Given the description of an element on the screen output the (x, y) to click on. 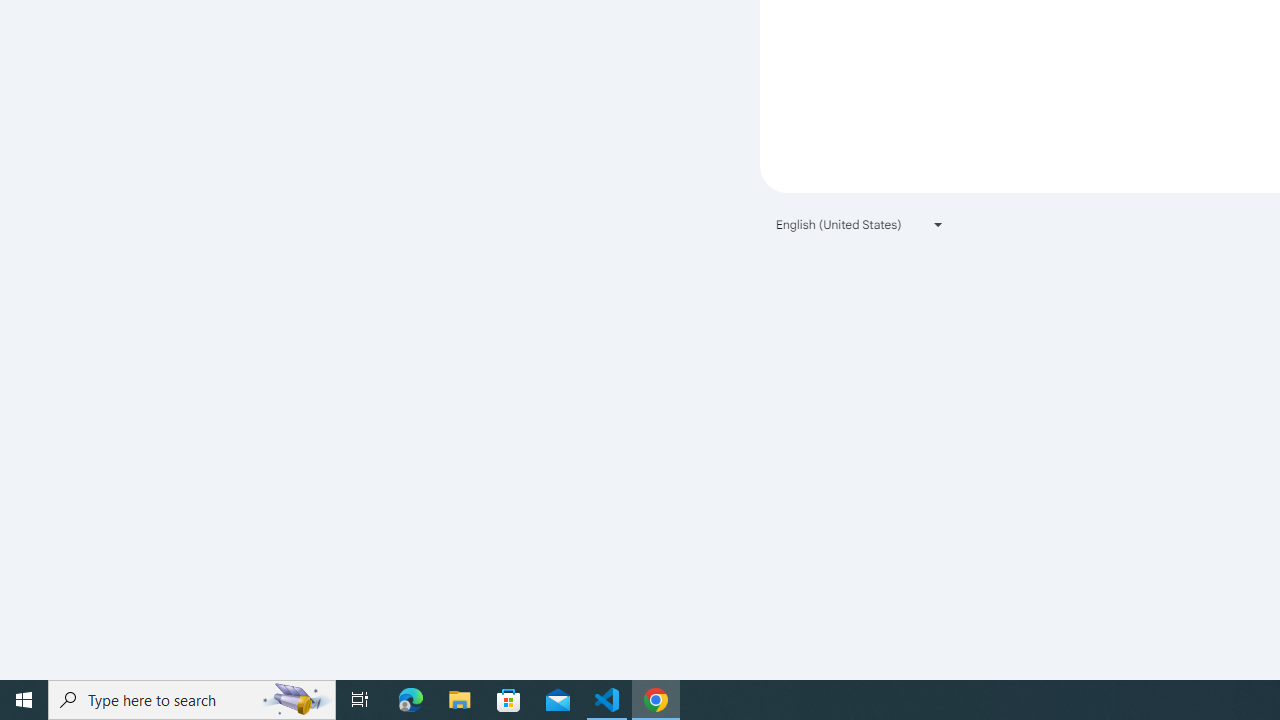
English (United States) (860, 224)
